Given the description of an element on the screen output the (x, y) to click on. 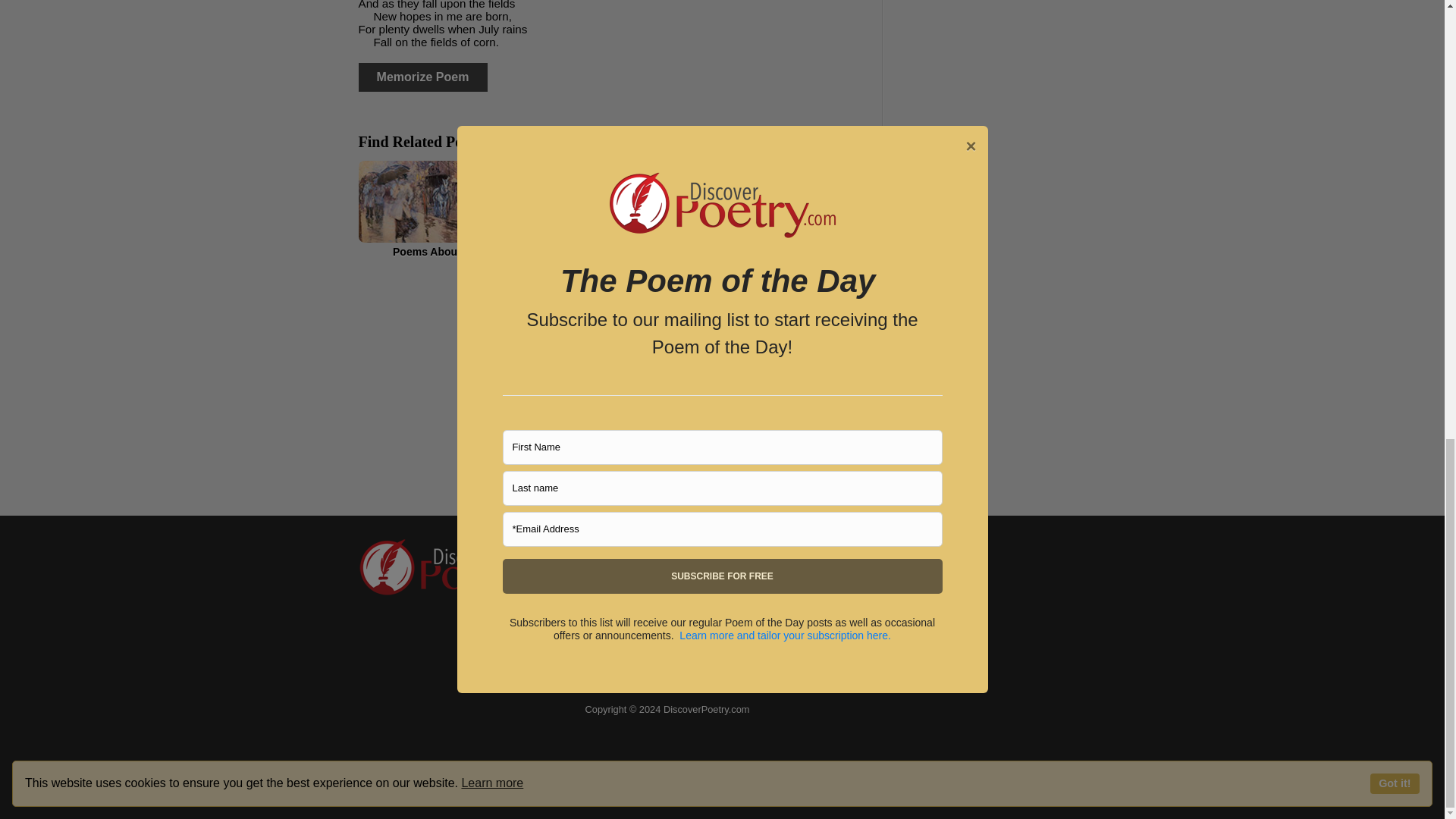
Contact Us (617, 574)
Poems About Rain (439, 208)
Corn Poems (613, 208)
Farm Poems (785, 208)
